Given the description of an element on the screen output the (x, y) to click on. 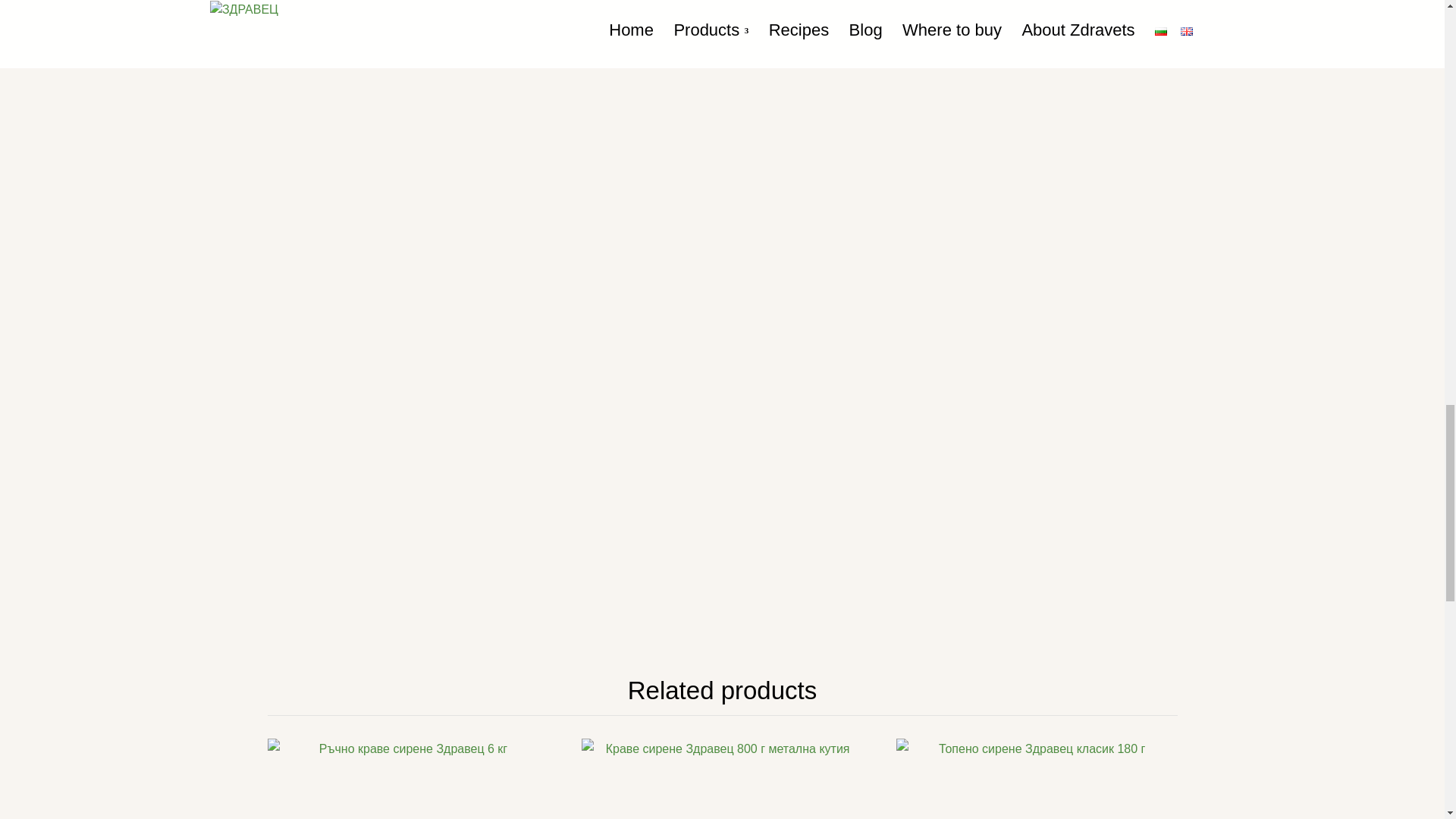
Handmade cow cheese Zdravets 6 kg (406, 778)
Zdravets classic processed cheese 180 g (1036, 778)
Zdravets cow cheese 800 g metal box (720, 778)
